Given the description of an element on the screen output the (x, y) to click on. 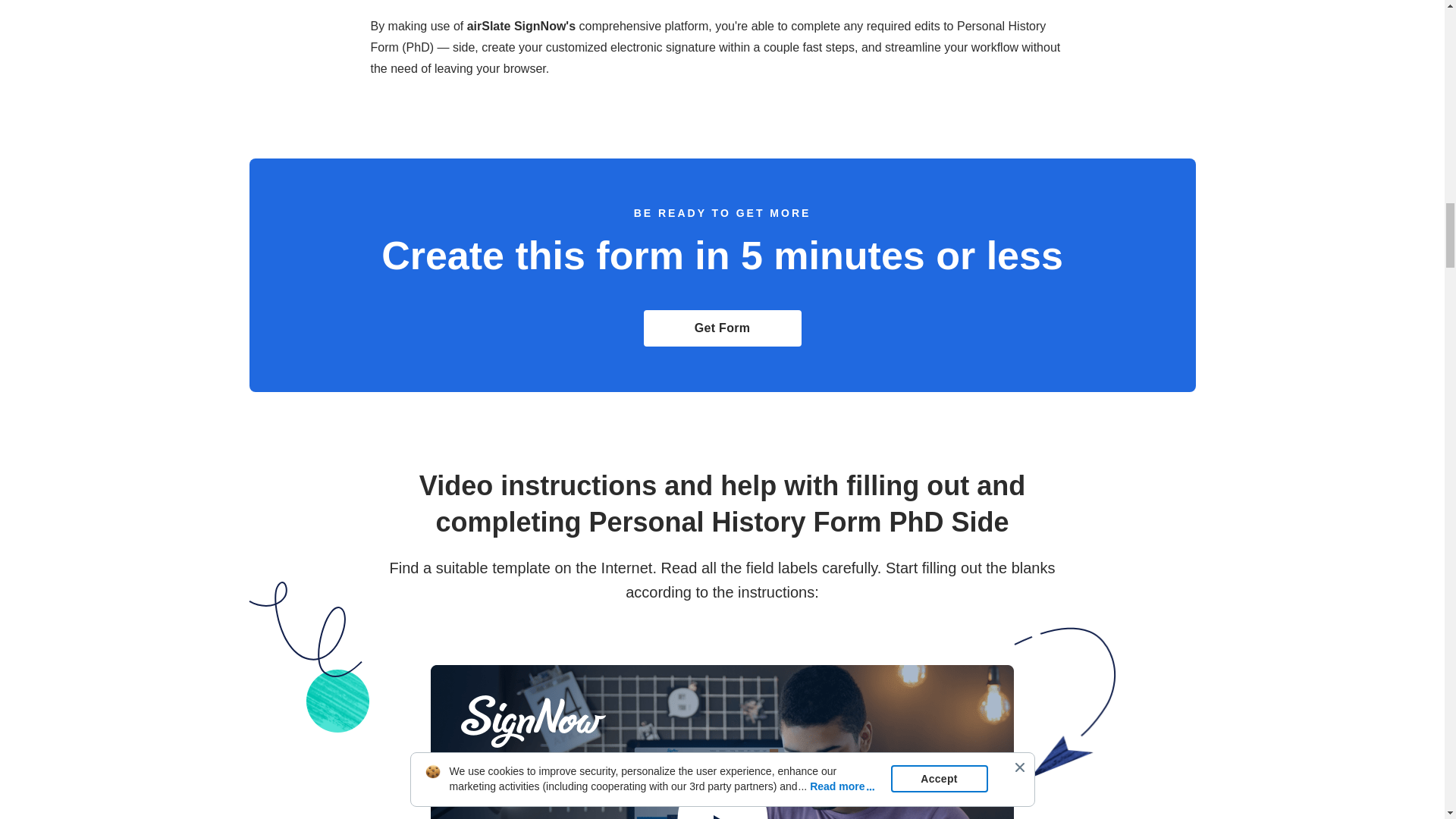
Get Form (721, 328)
